Given the description of an element on the screen output the (x, y) to click on. 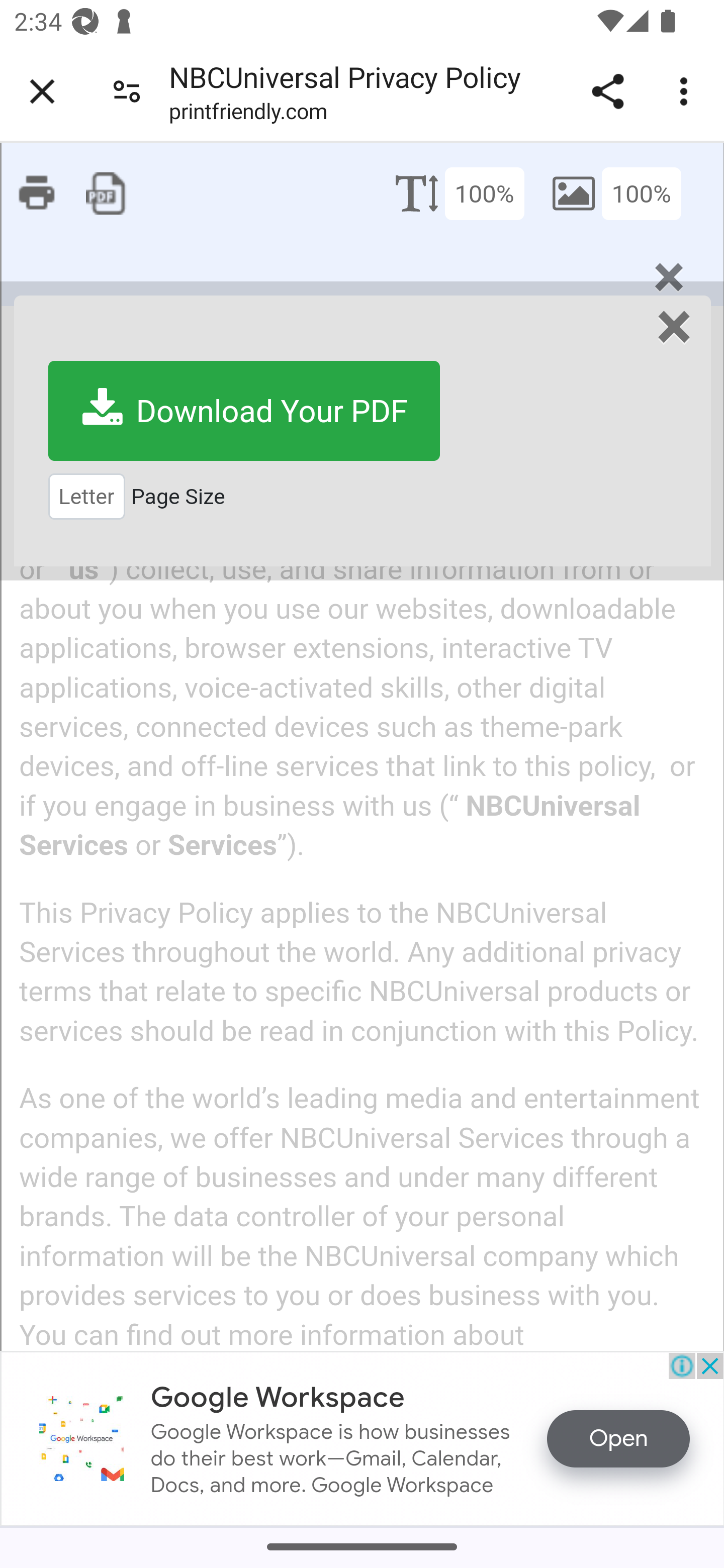
Close tab (42, 91)
Share (607, 91)
Customize and control Google Chrome (687, 91)
Connection is secure (126, 90)
printfriendly.com (247, 114)
100% (483, 192)
100% (640, 192)
Close (667, 276)
Close (672, 327)
Download Your PDF (244, 410)
Letter (86, 495)
Google Workspace (277, 1396)
Google Workspace (81, 1438)
Open (618, 1438)
